Given the description of an element on the screen output the (x, y) to click on. 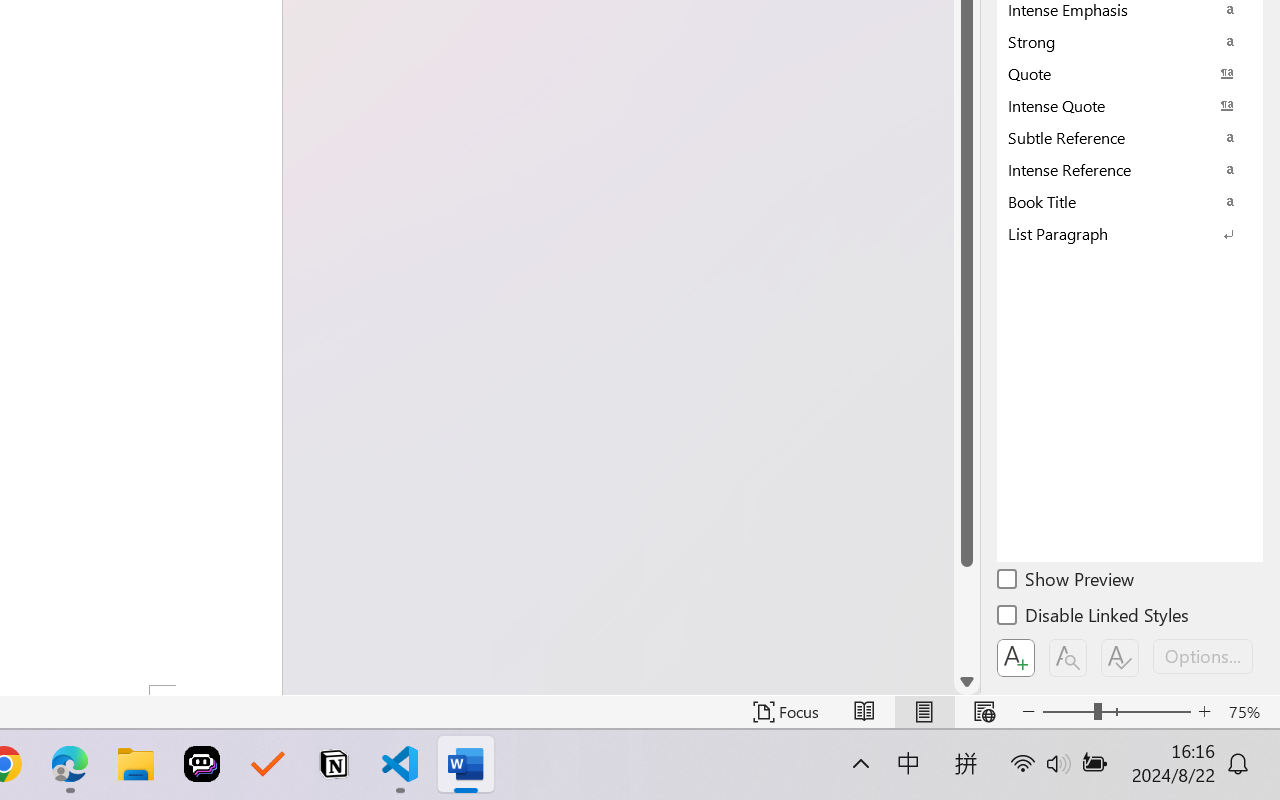
Intense Quote (1130, 105)
Quote (1130, 73)
Class: NetUIButton (1119, 657)
Zoom 75% (1249, 712)
List Paragraph (1130, 233)
